Given the description of an element on the screen output the (x, y) to click on. 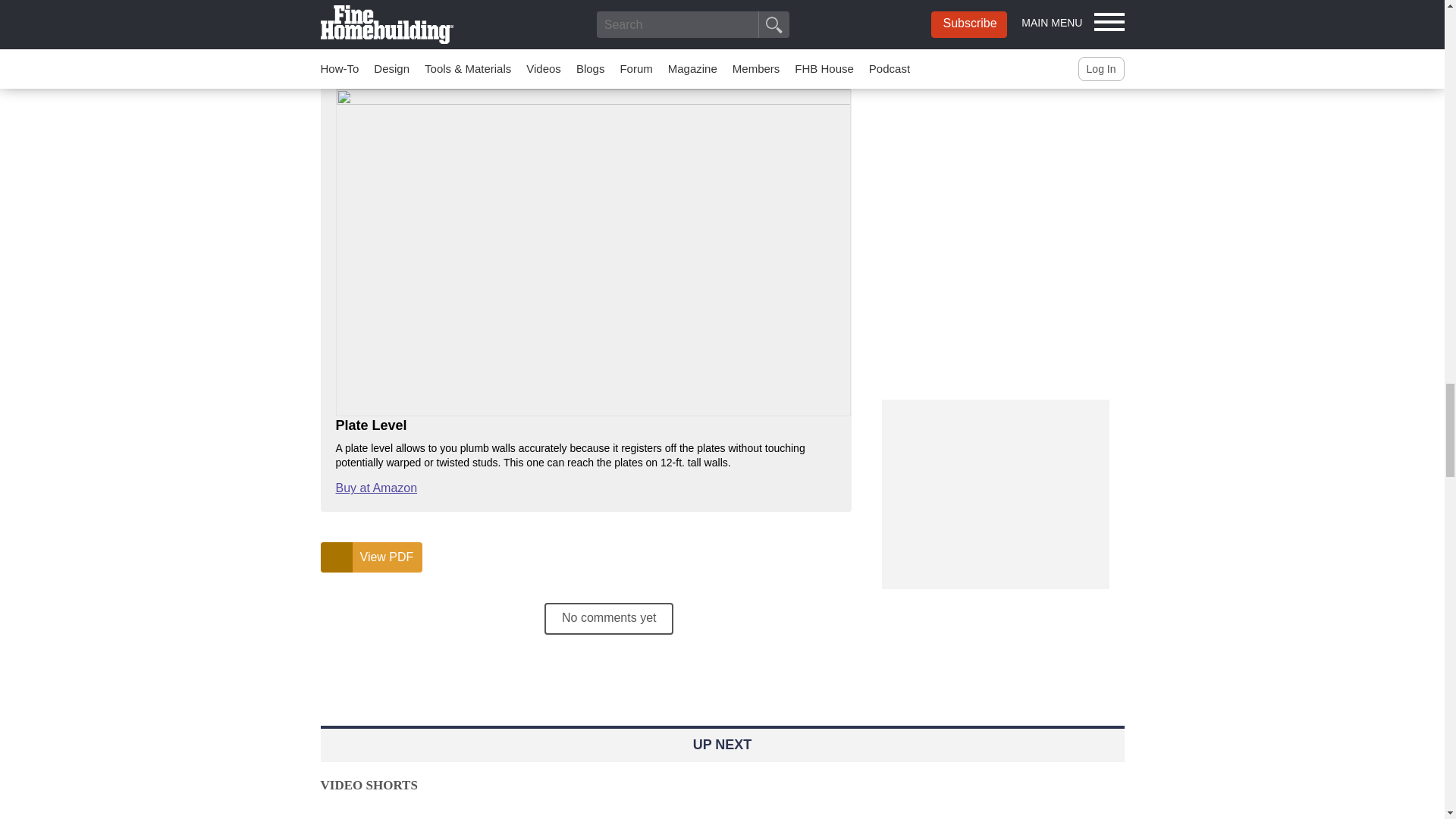
Buy at Amazon (375, 487)
No comments yet (608, 618)
View PDF (371, 557)
Buy at Amazon (375, 56)
